Given the description of an element on the screen output the (x, y) to click on. 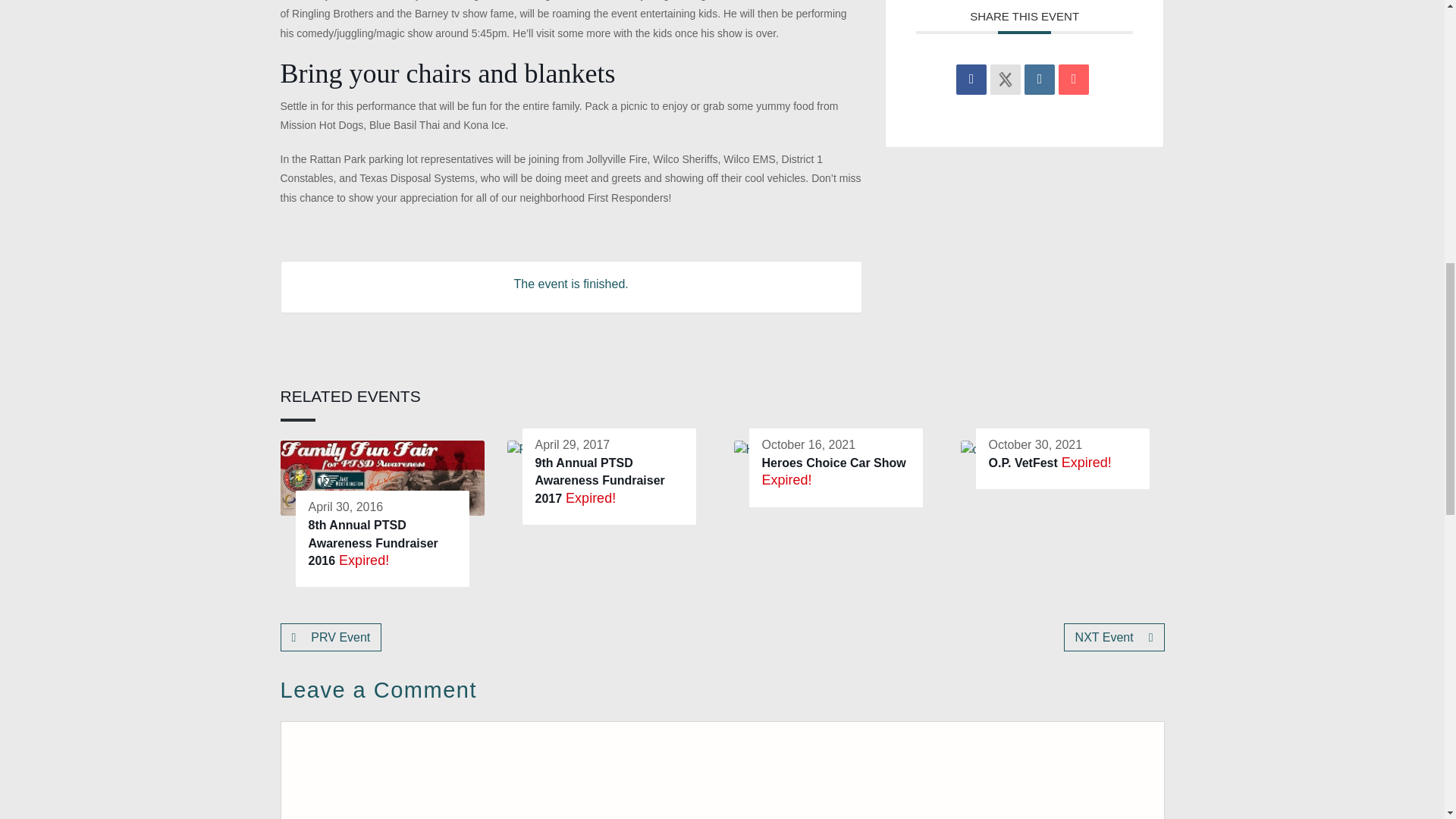
X Social Network (1005, 79)
8th Annual PTSD Awareness Fundraiser 2016 (372, 542)
Scroll back to top (1406, 720)
Email (1073, 79)
Share on Facebook (971, 79)
Linkedin (1039, 79)
